Given the description of an element on the screen output the (x, y) to click on. 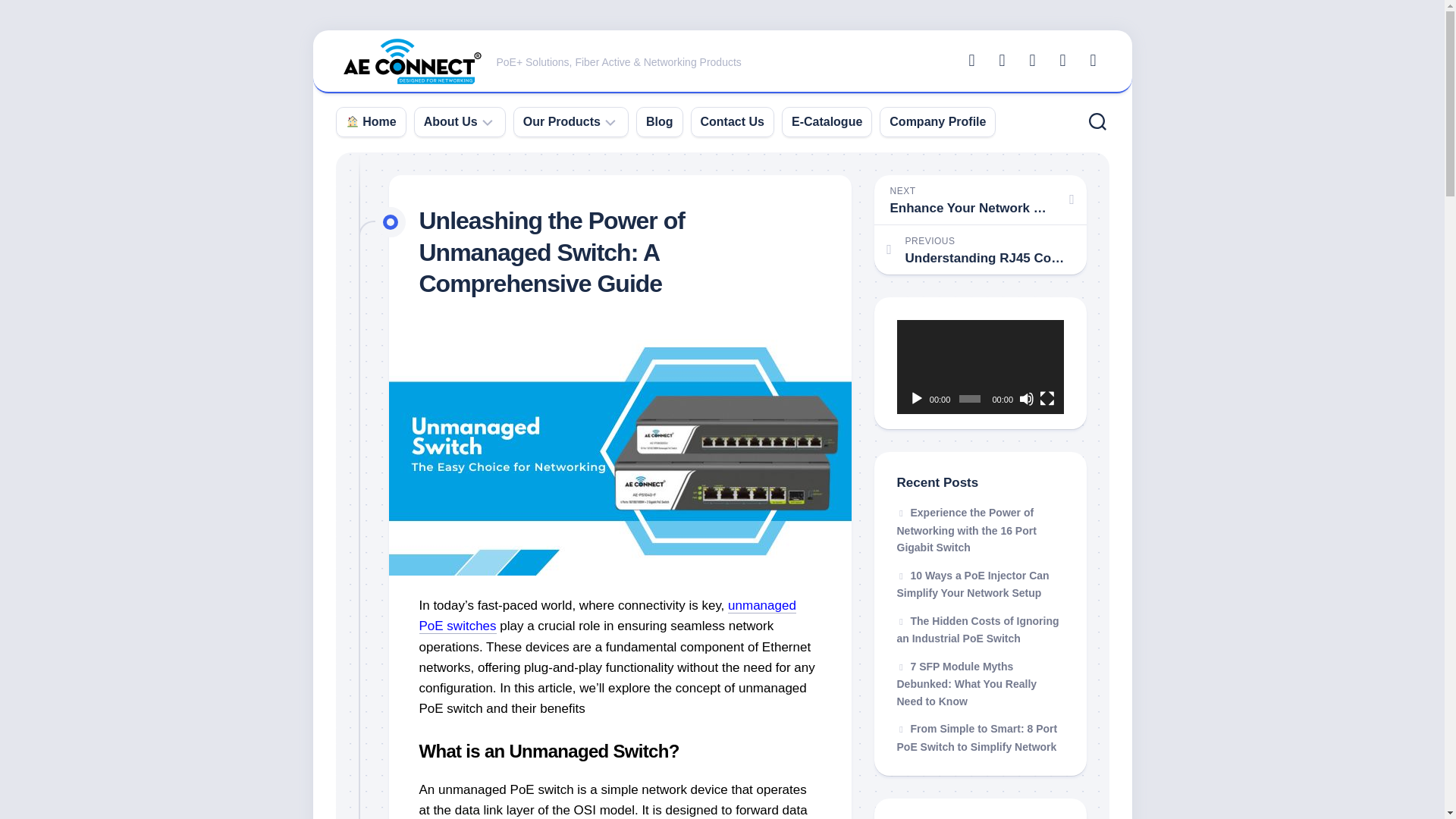
Fullscreen (1046, 398)
Pinterest (1092, 60)
Company Profile (937, 121)
Instagram (1032, 60)
LinkedIn (1062, 60)
Facebook (970, 60)
About Us (450, 121)
Twitter (1001, 60)
Contact Us (732, 121)
Mute (1026, 398)
Blog (659, 121)
Our Products (560, 121)
E-Catalogue (826, 121)
Home (371, 121)
Play (915, 398)
